Given the description of an element on the screen output the (x, y) to click on. 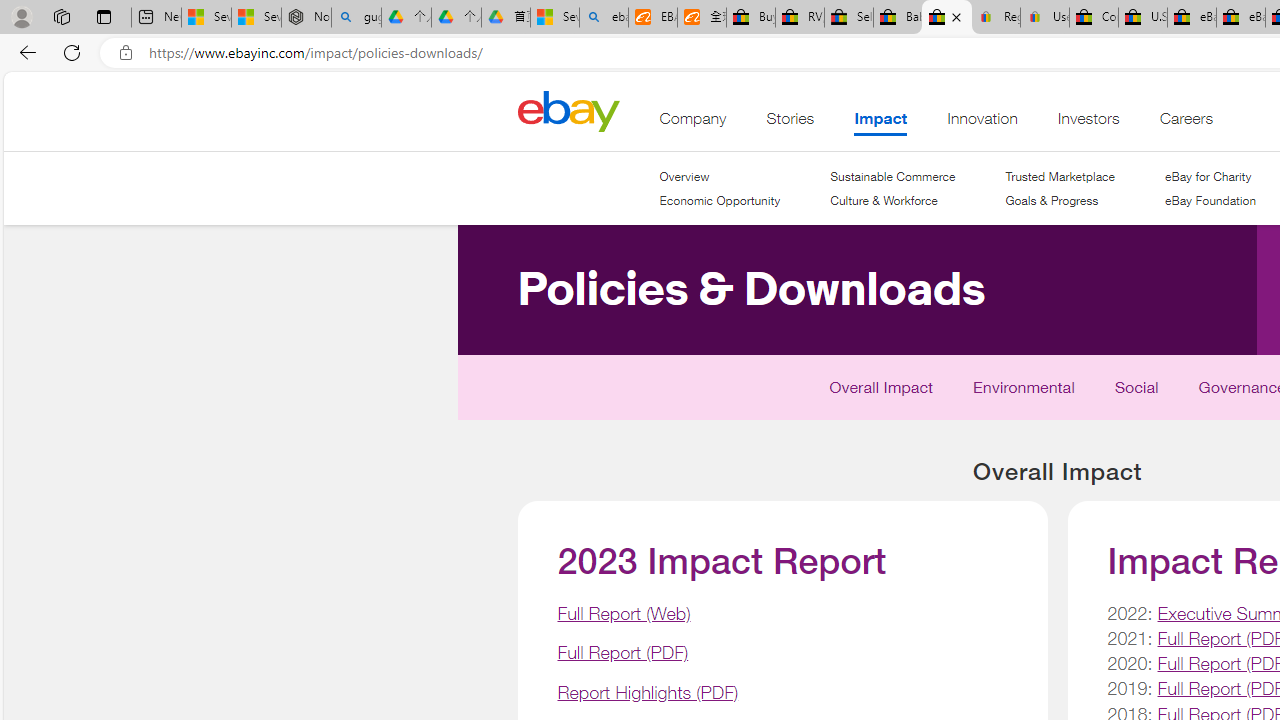
Environmental (1023, 391)
Impact . This is the current section. (880, 123)
eBay for Charity (1207, 176)
Investors (1088, 123)
Culture & Workforce (883, 200)
Impact (880, 123)
Careers (1185, 123)
Sustainable Commerce (892, 176)
Economic Opportunity (719, 201)
